Given the description of an element on the screen output the (x, y) to click on. 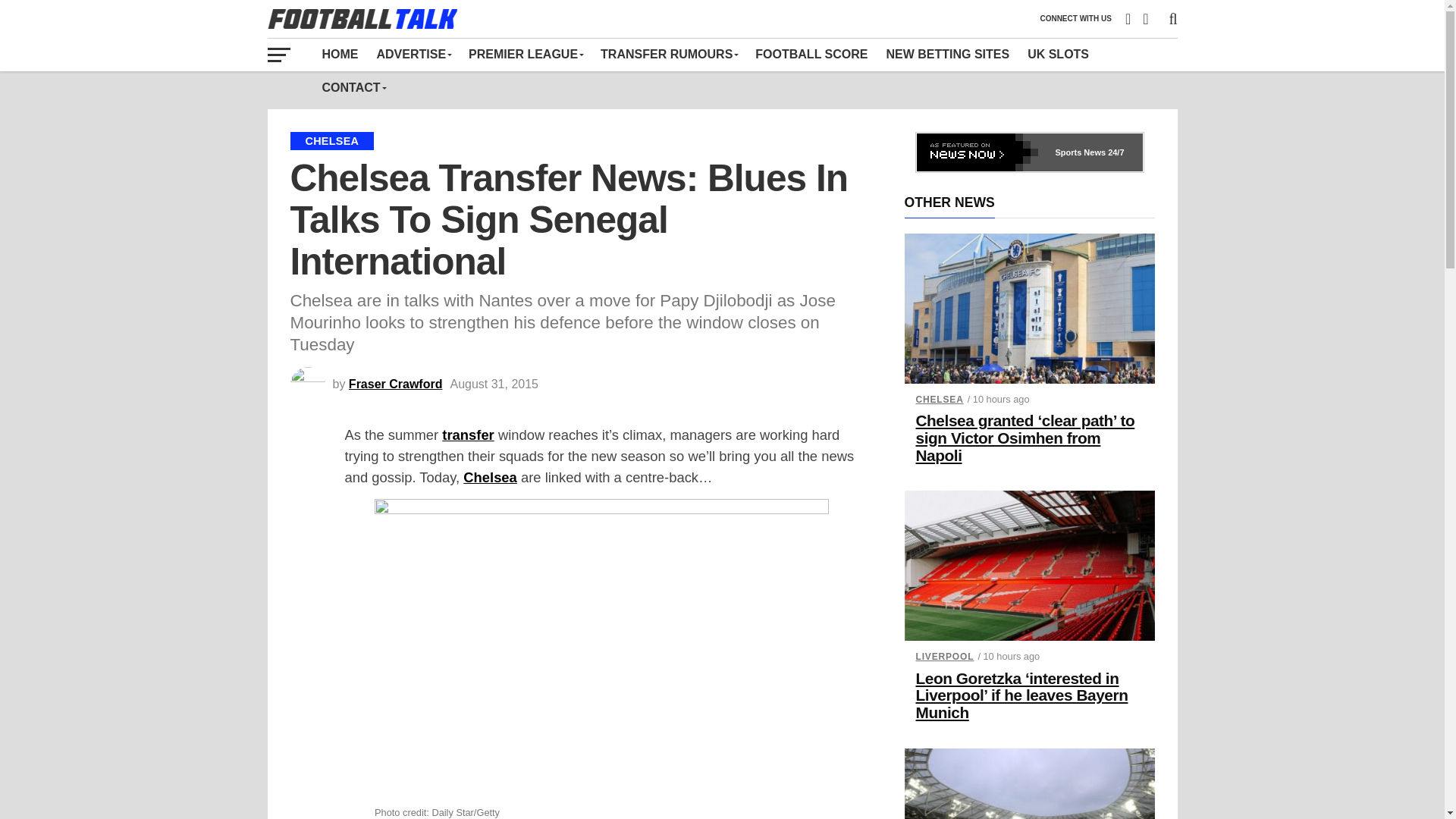
Advertise on Football-Talk (413, 54)
ADVERTISE (413, 54)
PREMIER LEAGUE (525, 54)
HOME (339, 54)
Premier League News (525, 54)
